Given the description of an element on the screen output the (x, y) to click on. 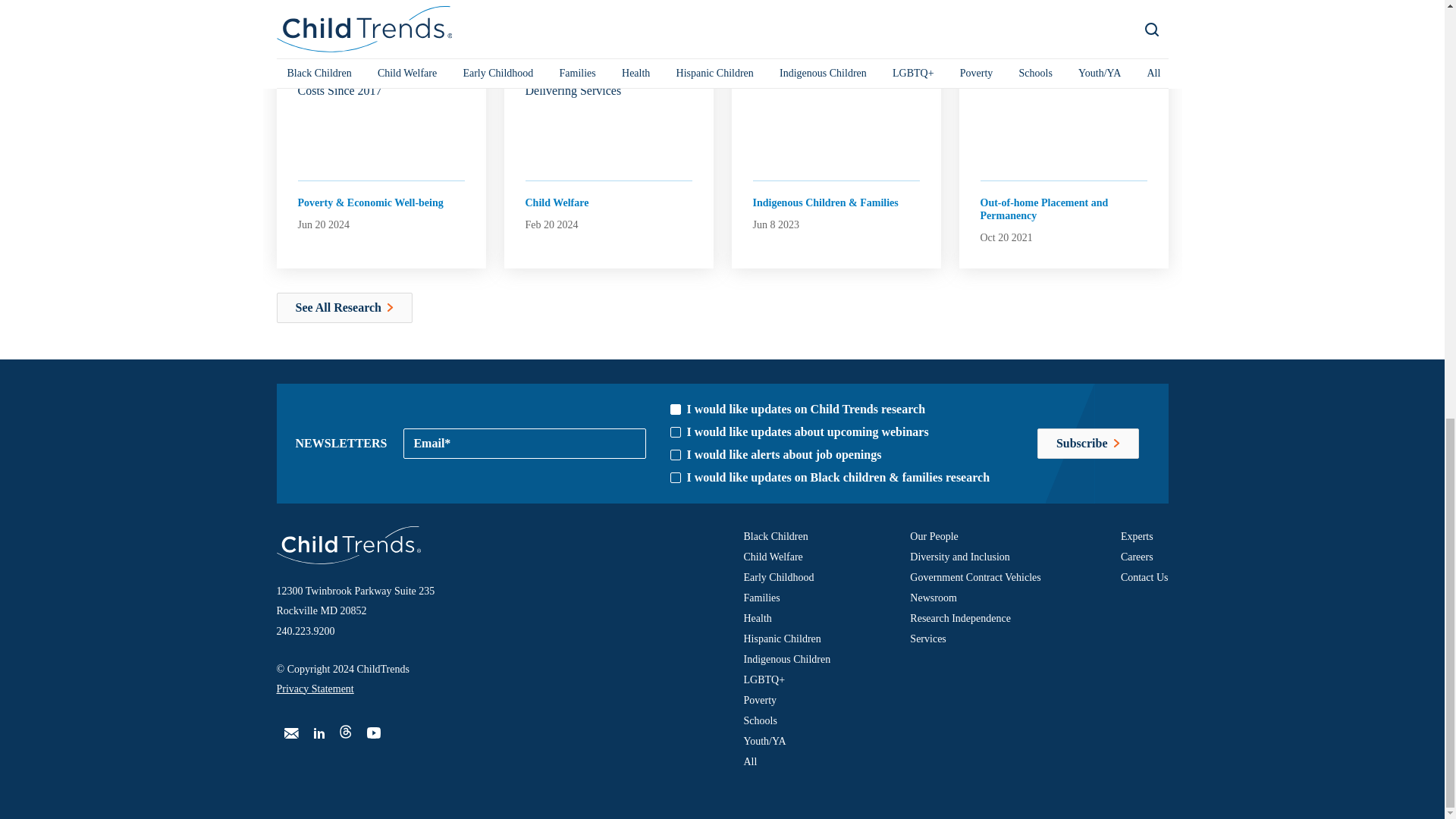
Creating Policies to Better Serve Diverse AANHPI Populations (835, 55)
Foster Youth Strategic Initiative 2020 Evaluation Report (1063, 55)
Child Welfare (556, 201)
Out-of-home Placement and Permanency (1056, 208)
See All Research (344, 307)
